Given the description of an element on the screen output the (x, y) to click on. 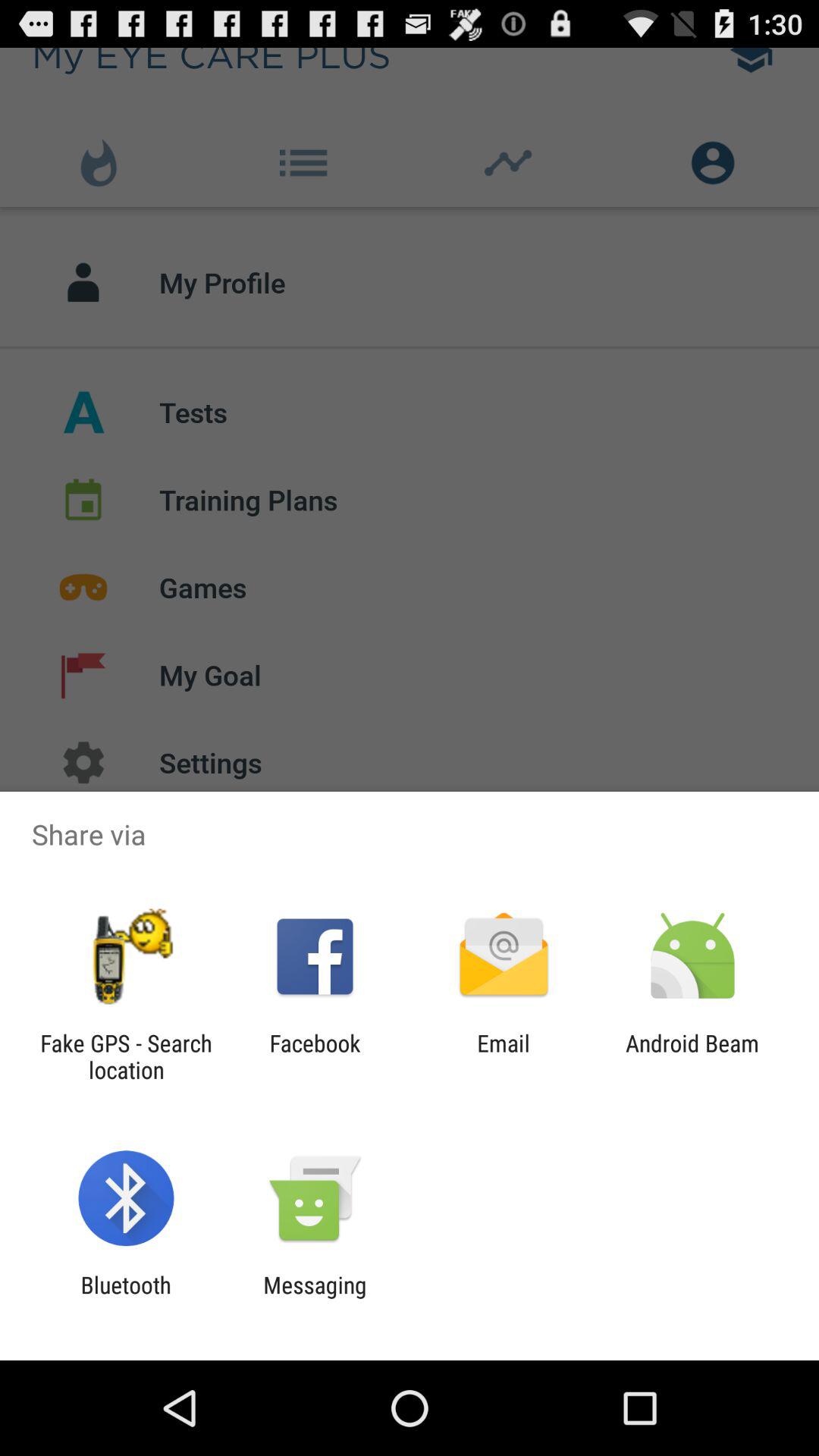
open the app next to messaging app (125, 1298)
